Given the description of an element on the screen output the (x, y) to click on. 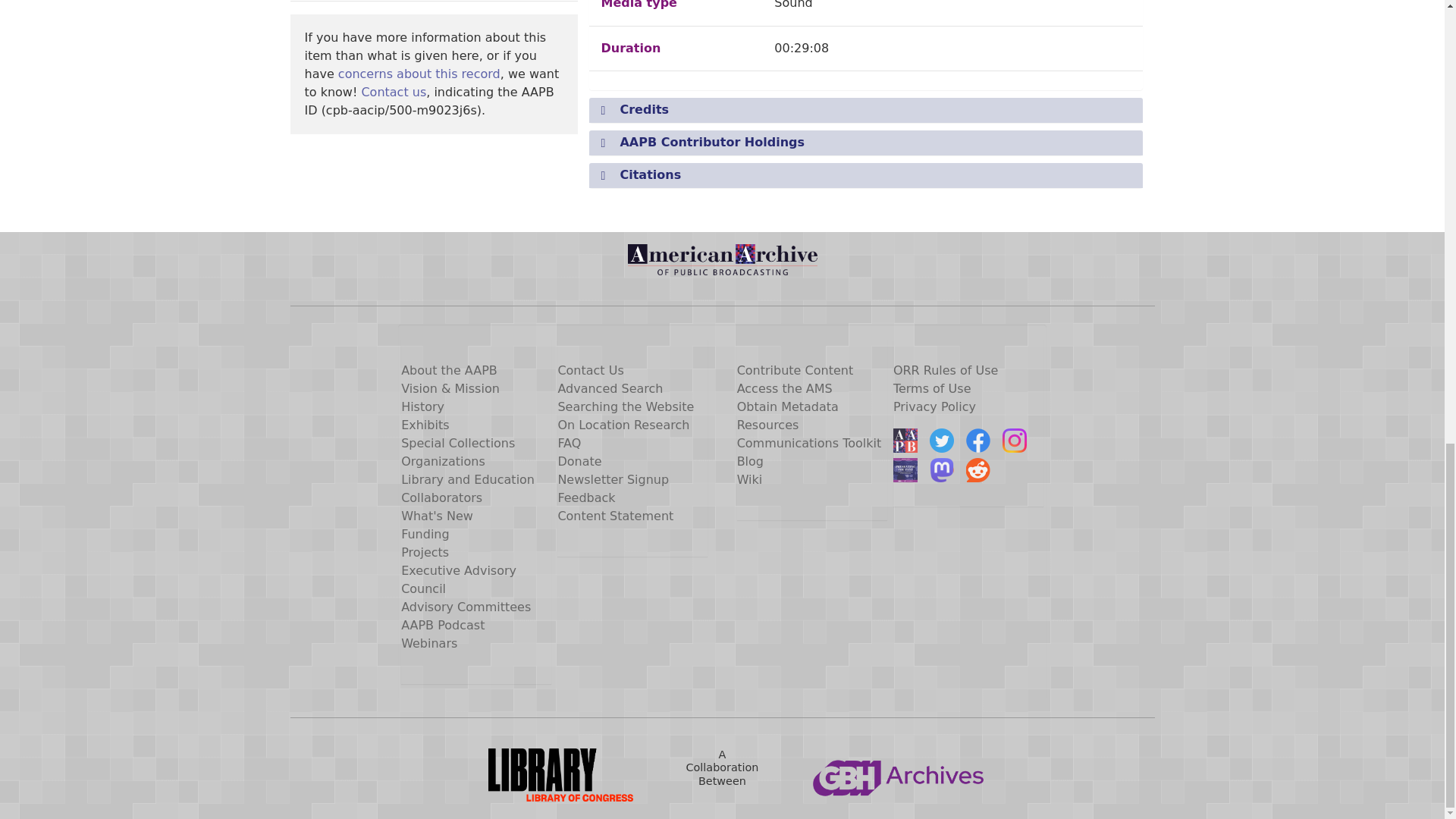
Listen to our Podcast (905, 469)
Follow us on Twitter (941, 440)
Join us on reddit (978, 469)
Follow us on Mastodon (941, 469)
Read the AAPB Blog (905, 440)
Like us on Facebook (978, 440)
GBH Archives (899, 774)
The Library of Congress (545, 774)
Follow us on Instagram (1014, 440)
